Given the description of an element on the screen output the (x, y) to click on. 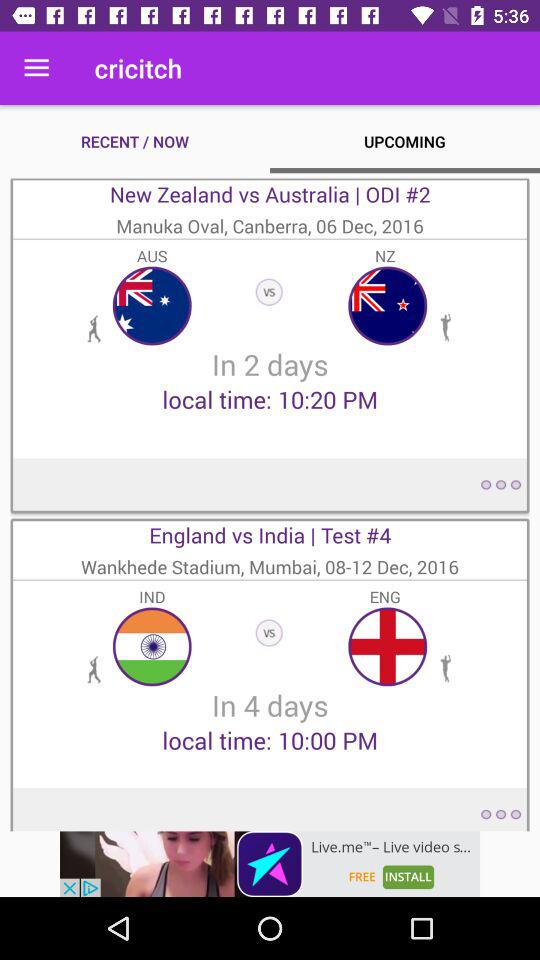
select the table below the upcoming (269, 345)
